Given the description of an element on the screen output the (x, y) to click on. 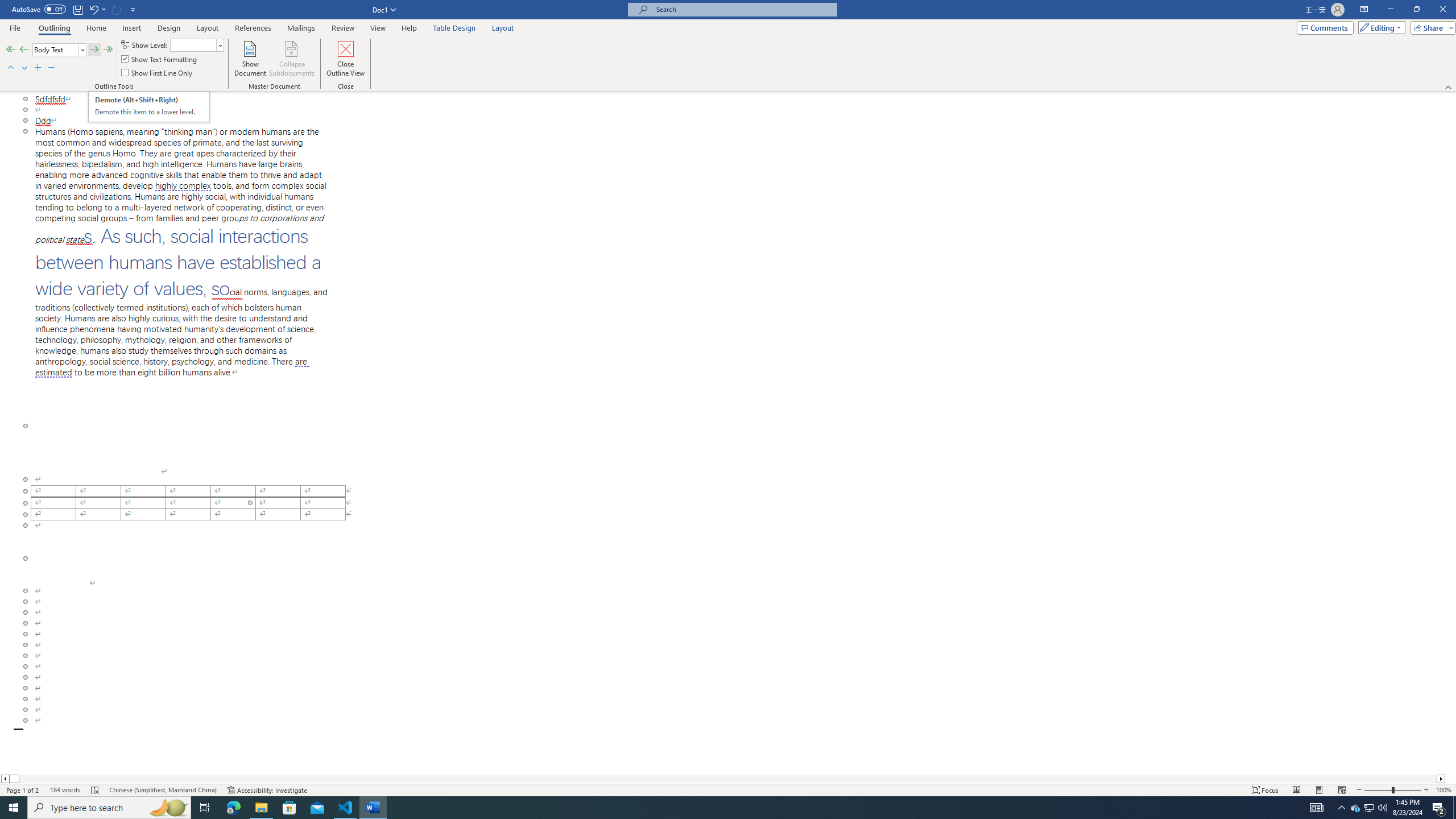
Column left (5, 778)
Collapse (51, 67)
Undo Row Height Spinner (96, 9)
Can't Repeat (117, 9)
Show Level (197, 44)
Outline Level (58, 49)
Show First Line Only (157, 72)
